Given the description of an element on the screen output the (x, y) to click on. 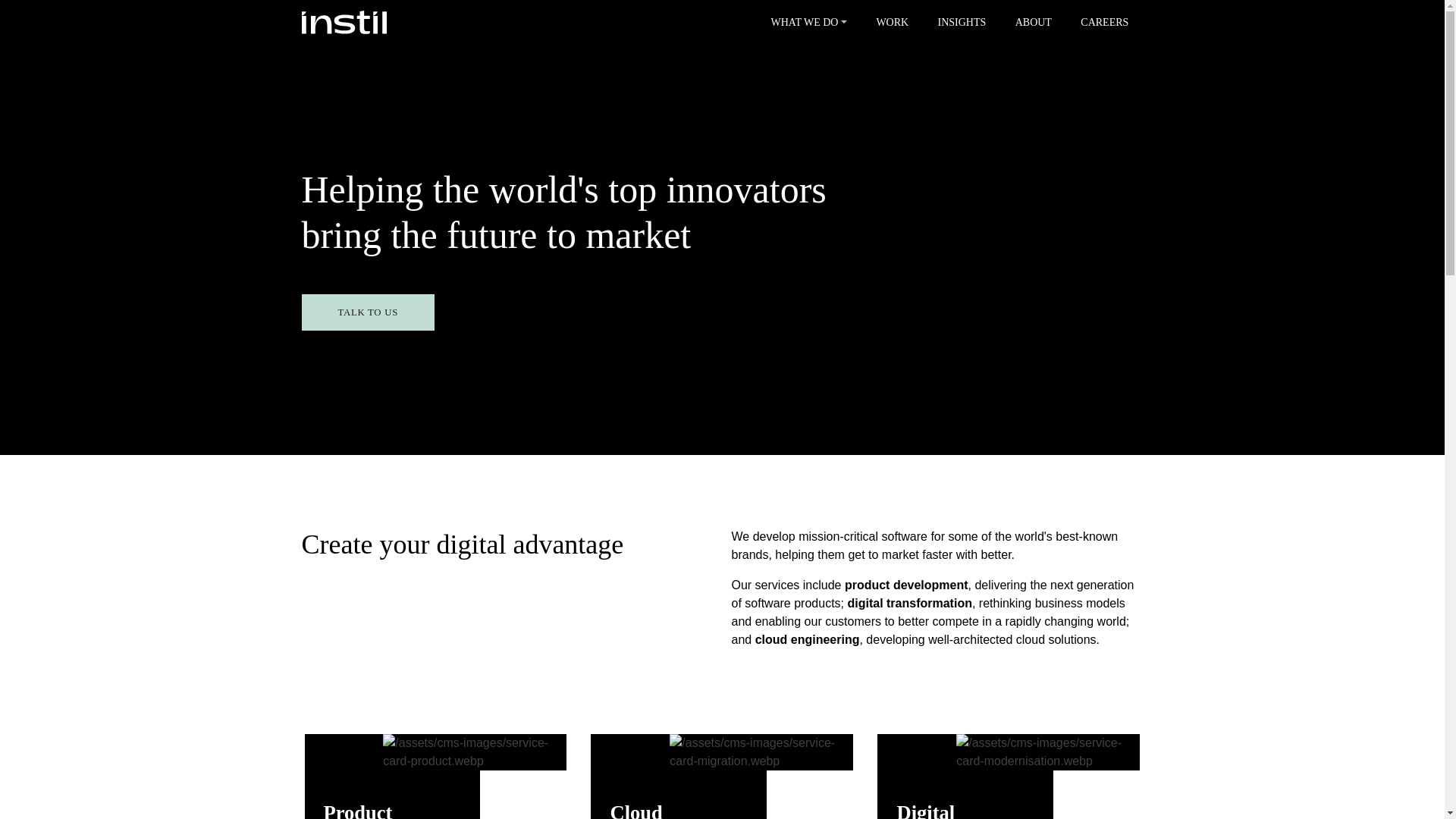
ABOUT (1034, 22)
WHAT WE DO (808, 22)
WORK (892, 22)
CAREERS (1103, 22)
INSIGHTS (961, 22)
TALK TO US (367, 312)
